Given the description of an element on the screen output the (x, y) to click on. 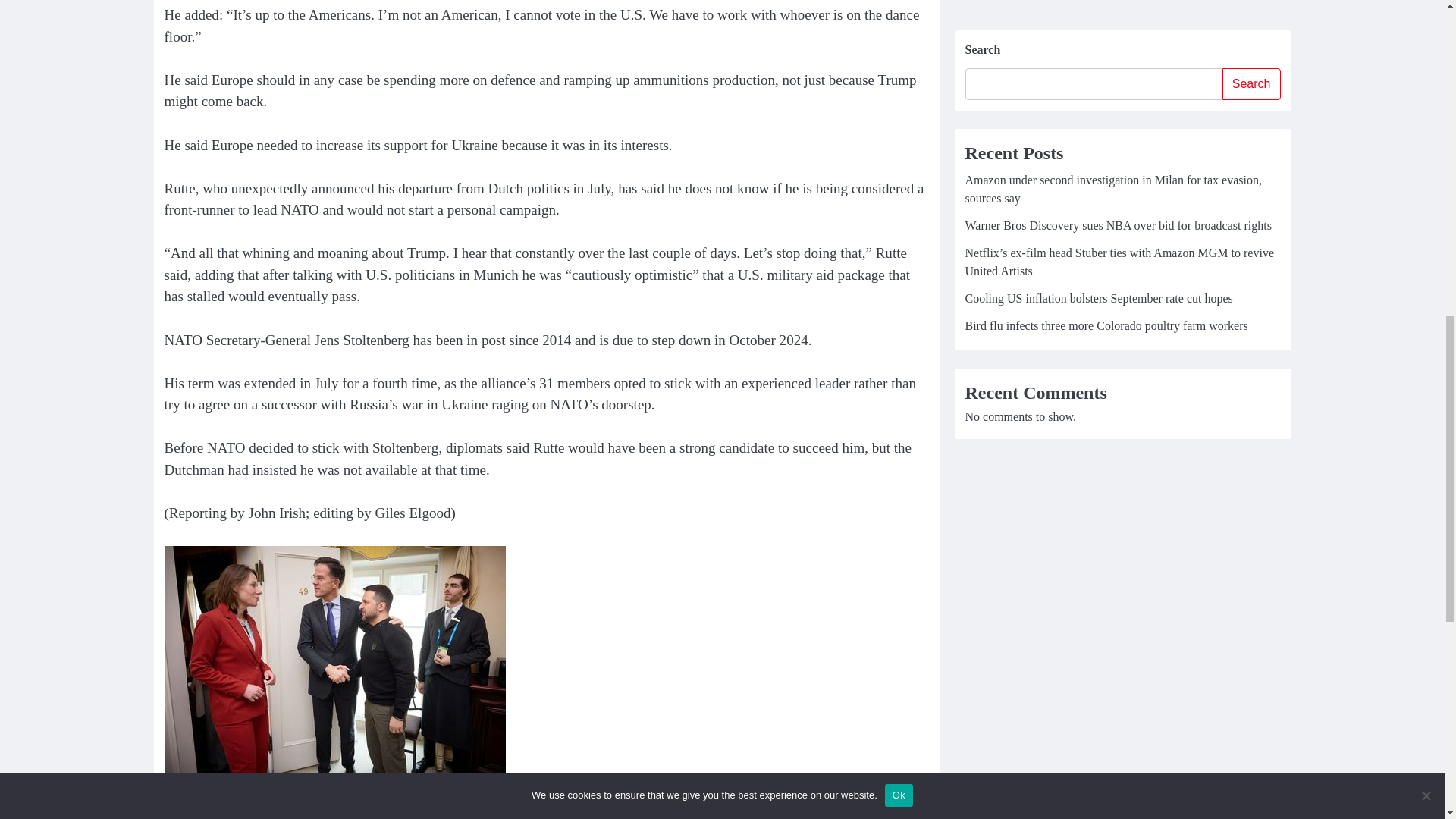
TOP NEWS (186, 810)
